Given the description of an element on the screen output the (x, y) to click on. 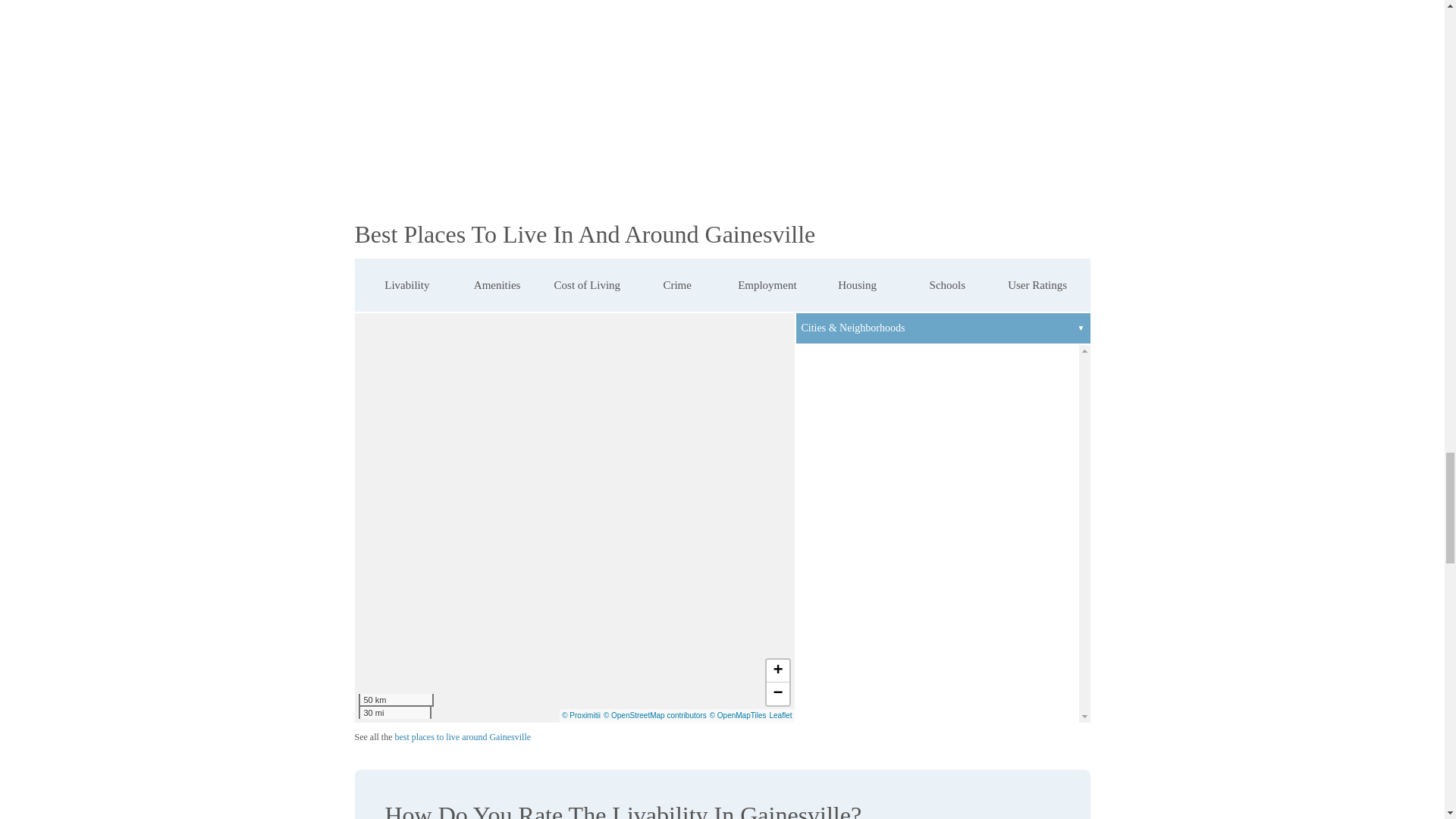
Zoom in (777, 671)
Zoom out (777, 693)
